Given the description of an element on the screen output the (x, y) to click on. 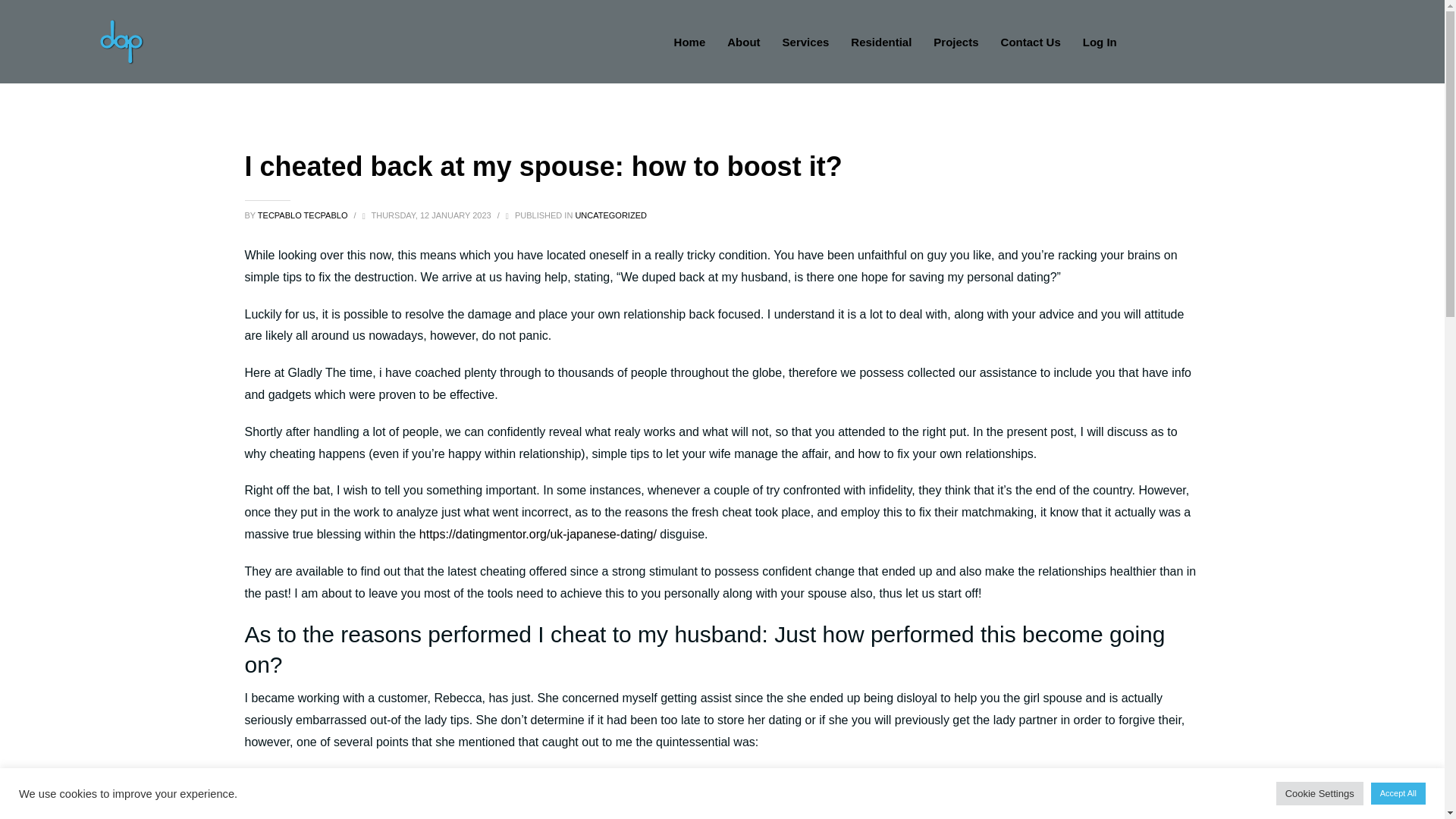
We Are Cool (120, 41)
Log In (1099, 41)
Services (805, 41)
Home (689, 41)
Projects (955, 41)
Contact Us (1030, 41)
About (742, 41)
Residential (880, 41)
UNCATEGORIZED (610, 215)
TECPABLO TECPABLO (303, 215)
